Given the description of an element on the screen output the (x, y) to click on. 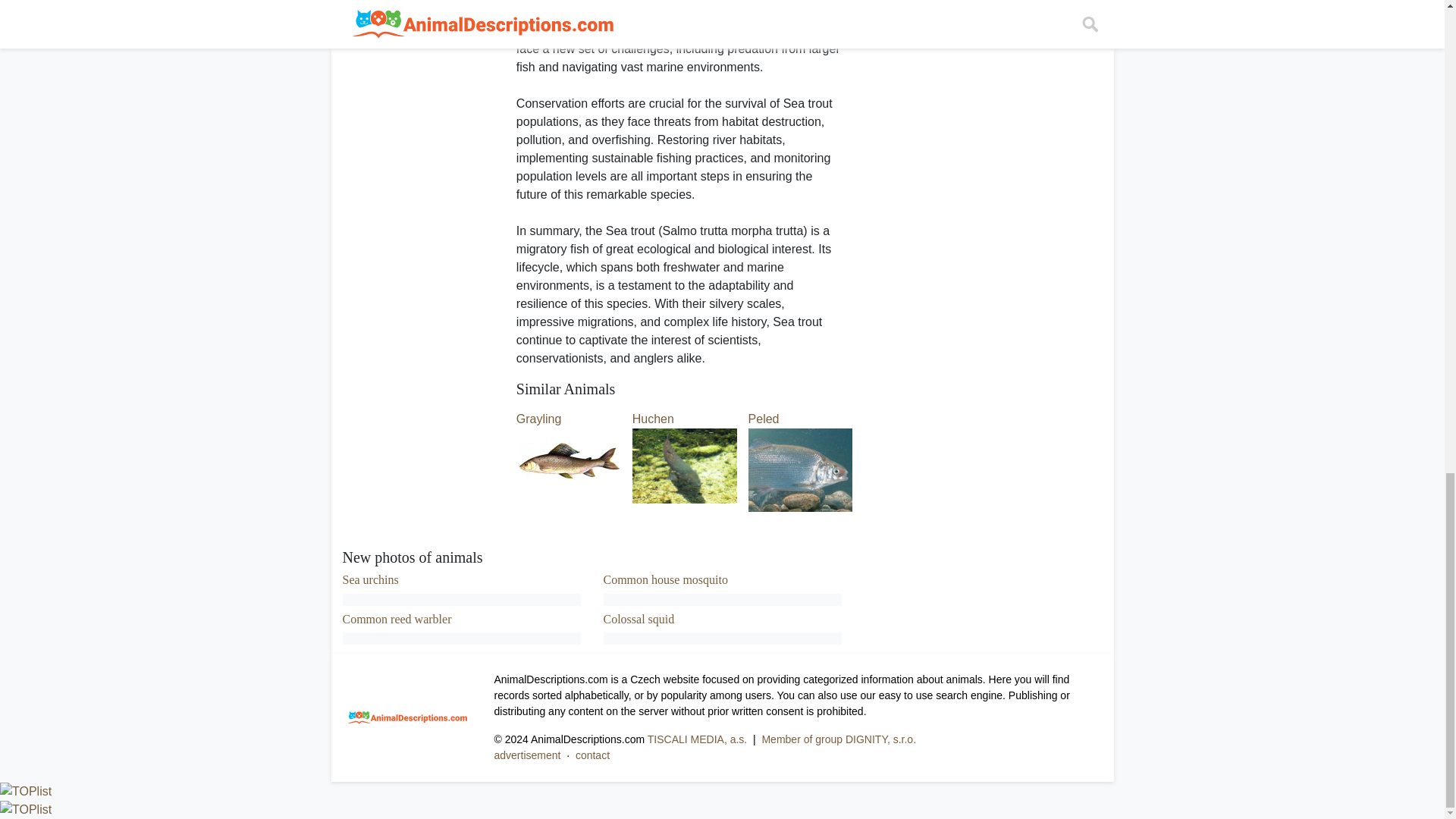
Huchen (683, 440)
Sea urchins (370, 579)
Common reed warbler (396, 618)
Colossal squid (639, 618)
Grayling (568, 440)
Common house mosquito (666, 579)
Peled (800, 442)
